Given the description of an element on the screen output the (x, y) to click on. 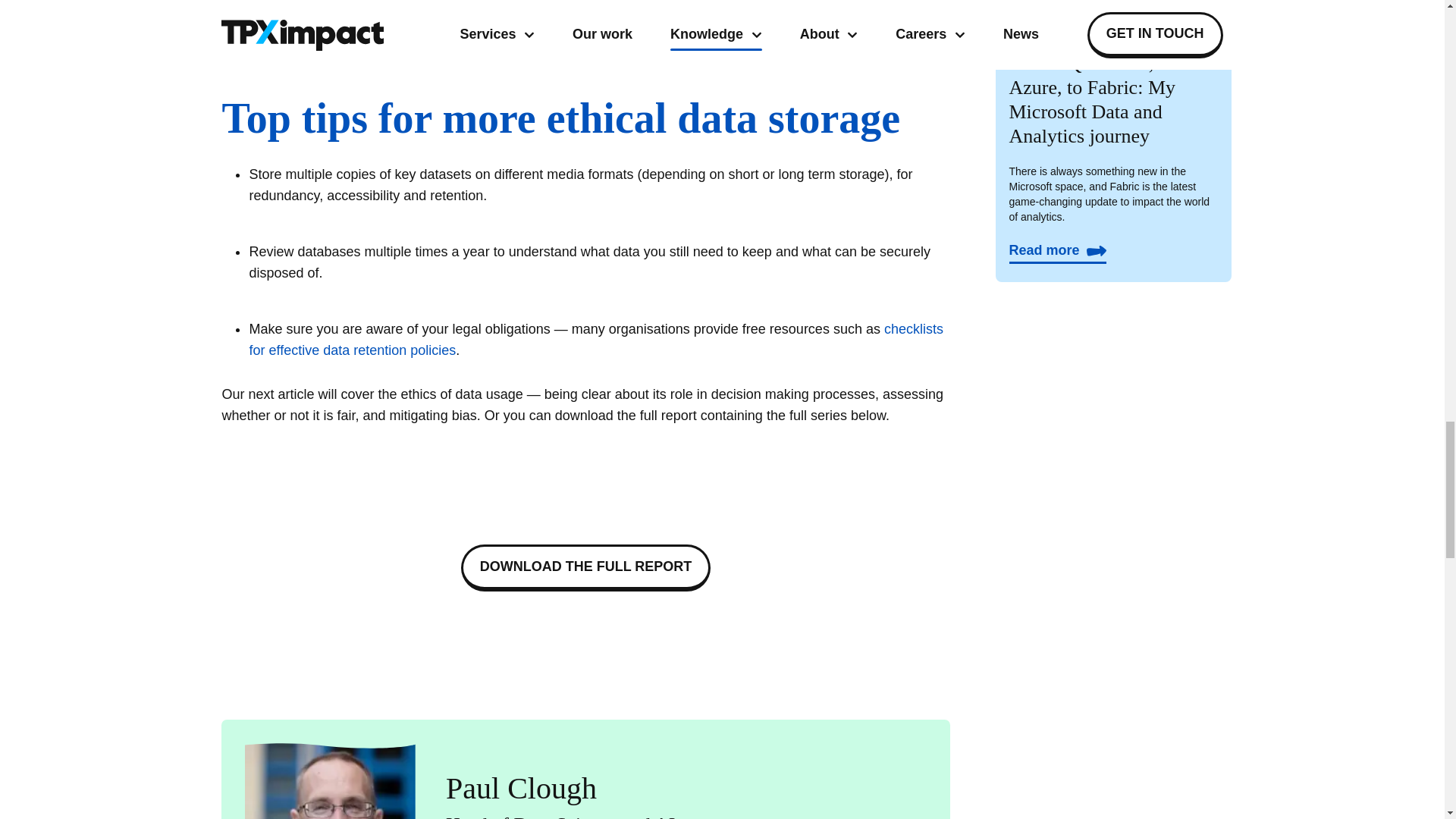
DOWNLOAD THE FULL REPORT (586, 567)
Download the full report (586, 567)
checklists for effective data retention policies (595, 339)
